Given the description of an element on the screen output the (x, y) to click on. 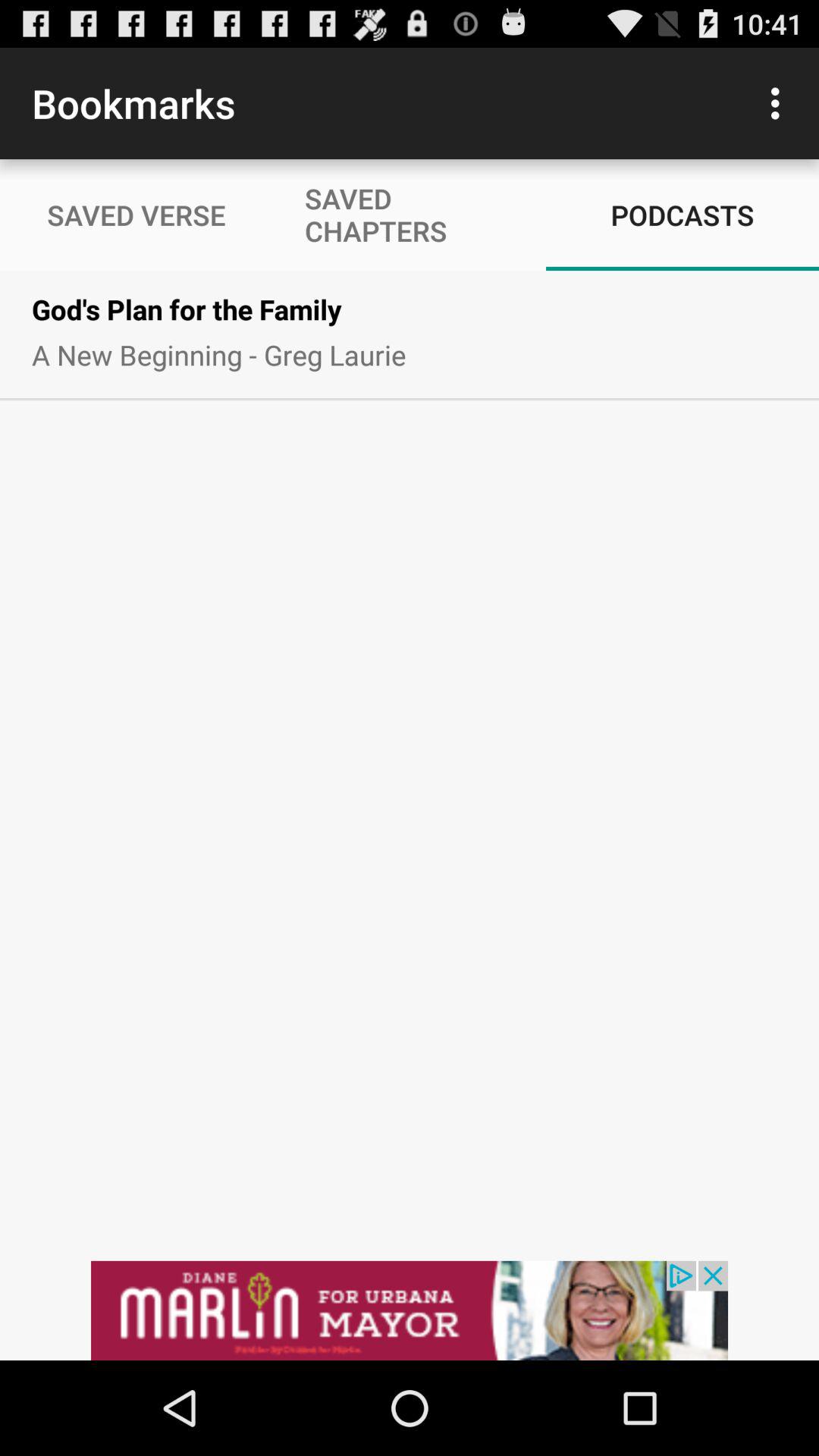
advertisement (409, 1310)
